Given the description of an element on the screen output the (x, y) to click on. 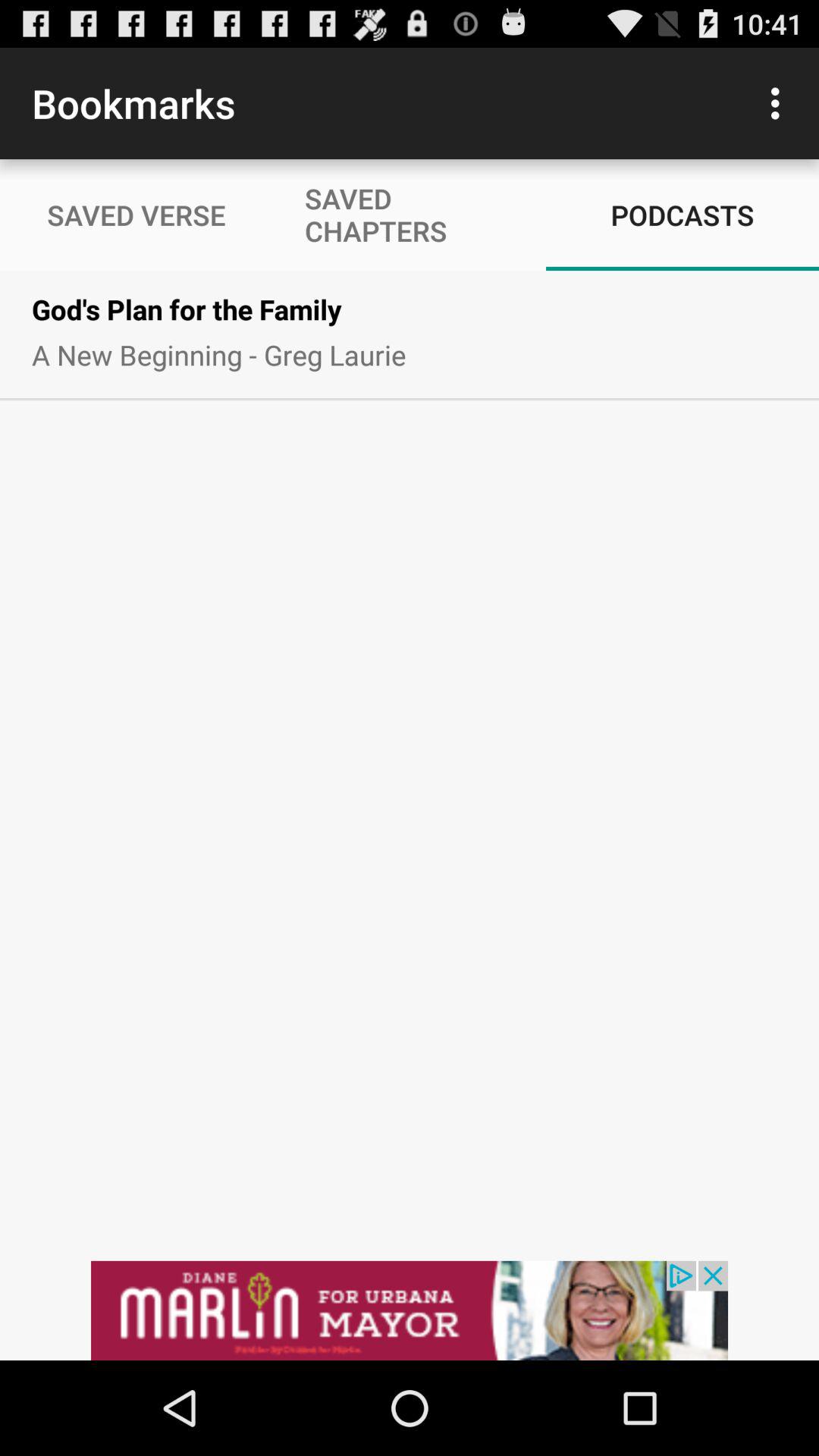
advertisement (409, 1310)
